Given the description of an element on the screen output the (x, y) to click on. 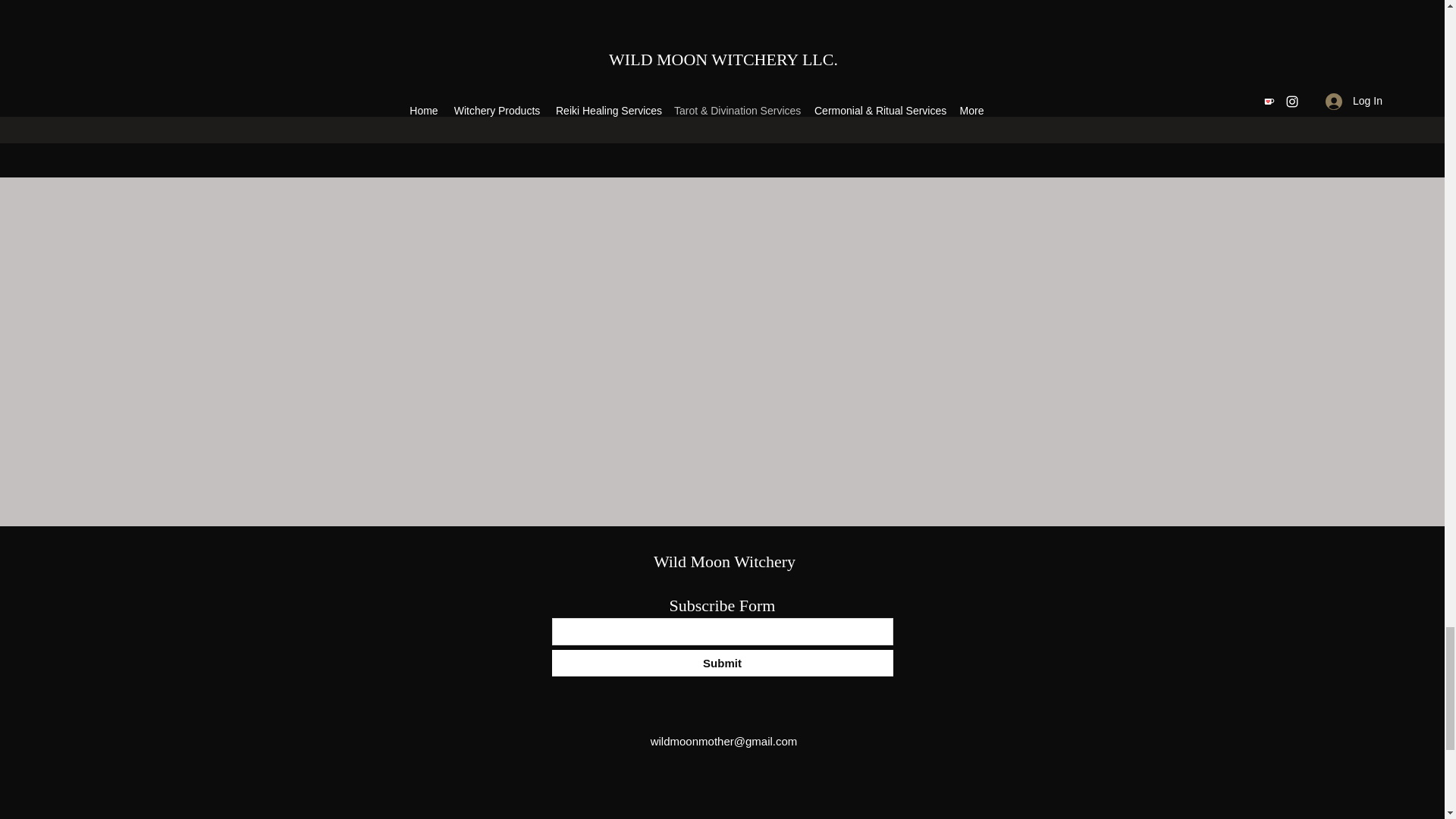
Wild Moon Witchery (723, 561)
Submit (722, 663)
